Given the description of an element on the screen output the (x, y) to click on. 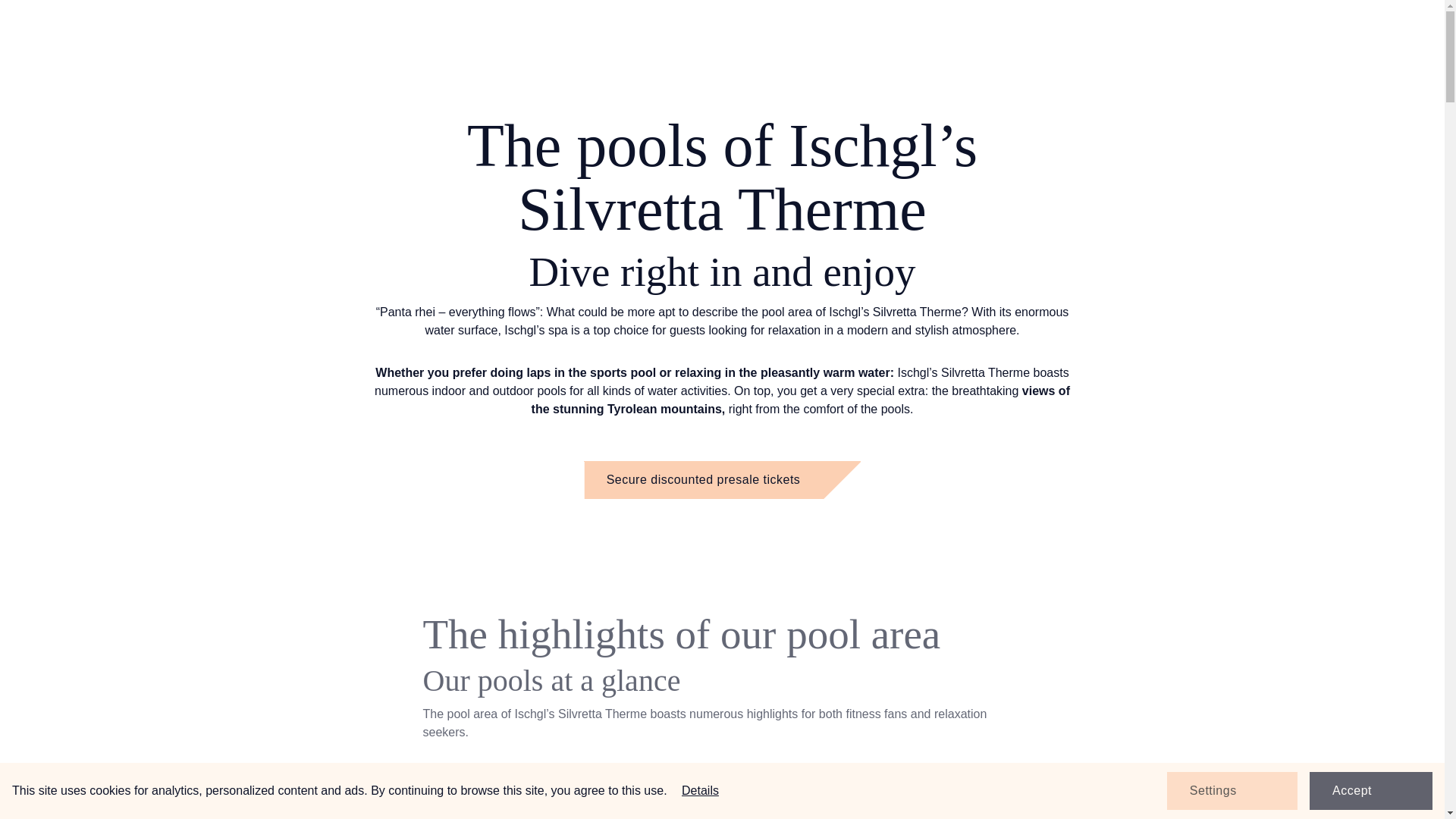
Settings (1232, 790)
Accept (1370, 790)
Secure discounted presale tickets (722, 479)
Details (700, 789)
